Given the description of an element on the screen output the (x, y) to click on. 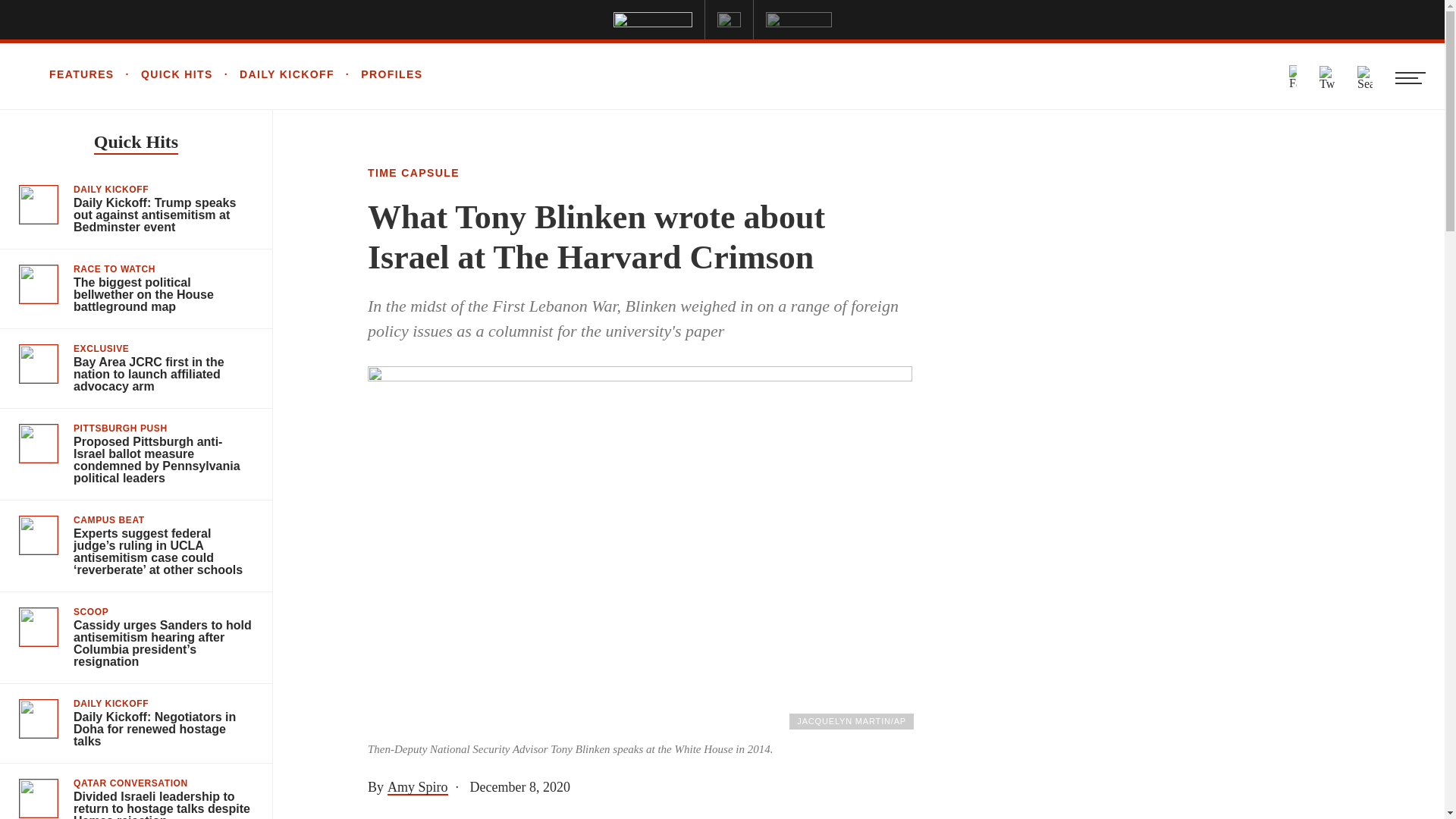
PROFILES (378, 73)
QUICK HITS (163, 73)
Amy Spiro (417, 787)
Quick Hits (135, 143)
DAILY KICKOFF (273, 73)
